Given the description of an element on the screen output the (x, y) to click on. 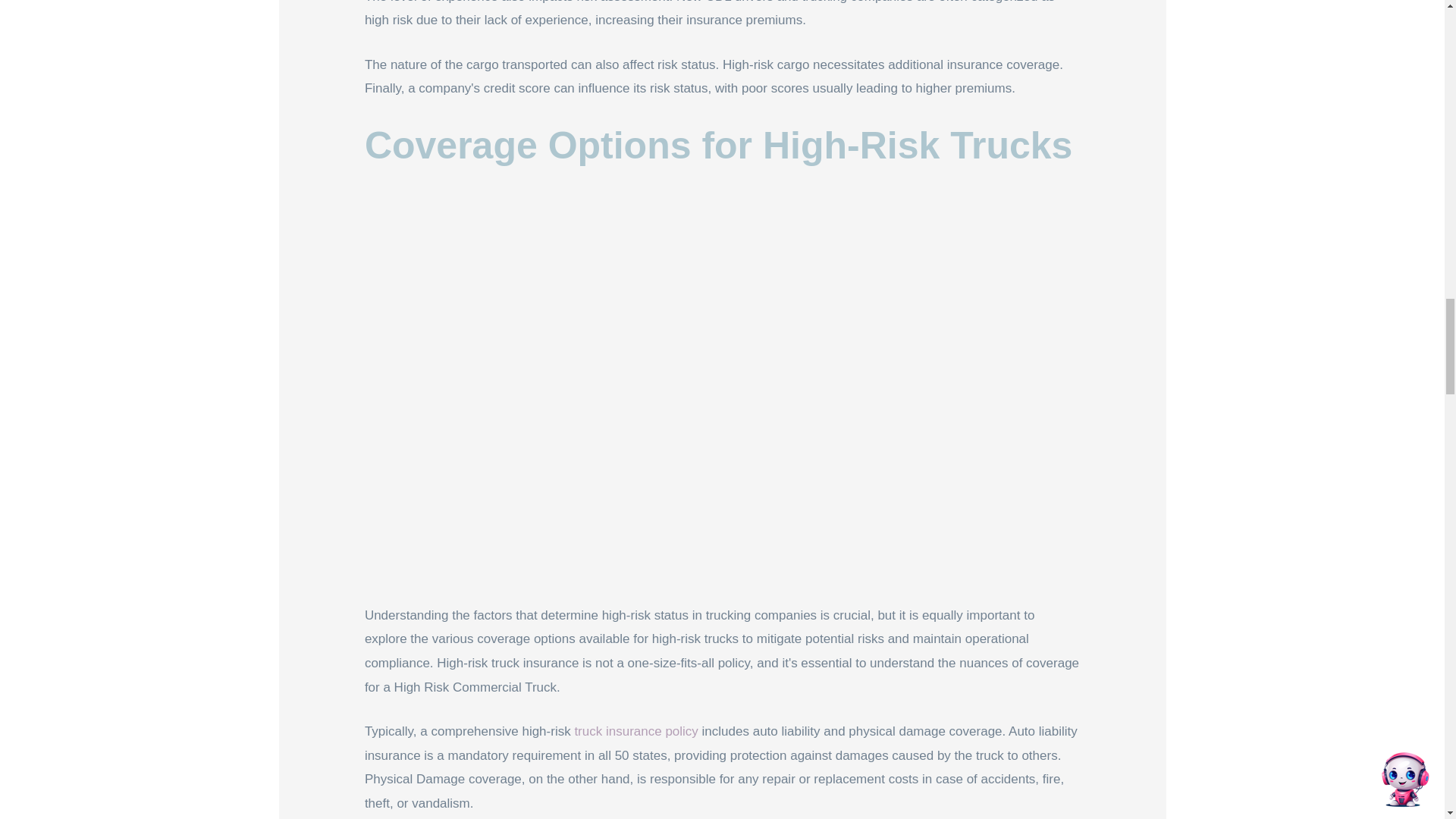
truck insurance policy (635, 730)
Truck Insurance Policy (635, 730)
